Given the description of an element on the screen output the (x, y) to click on. 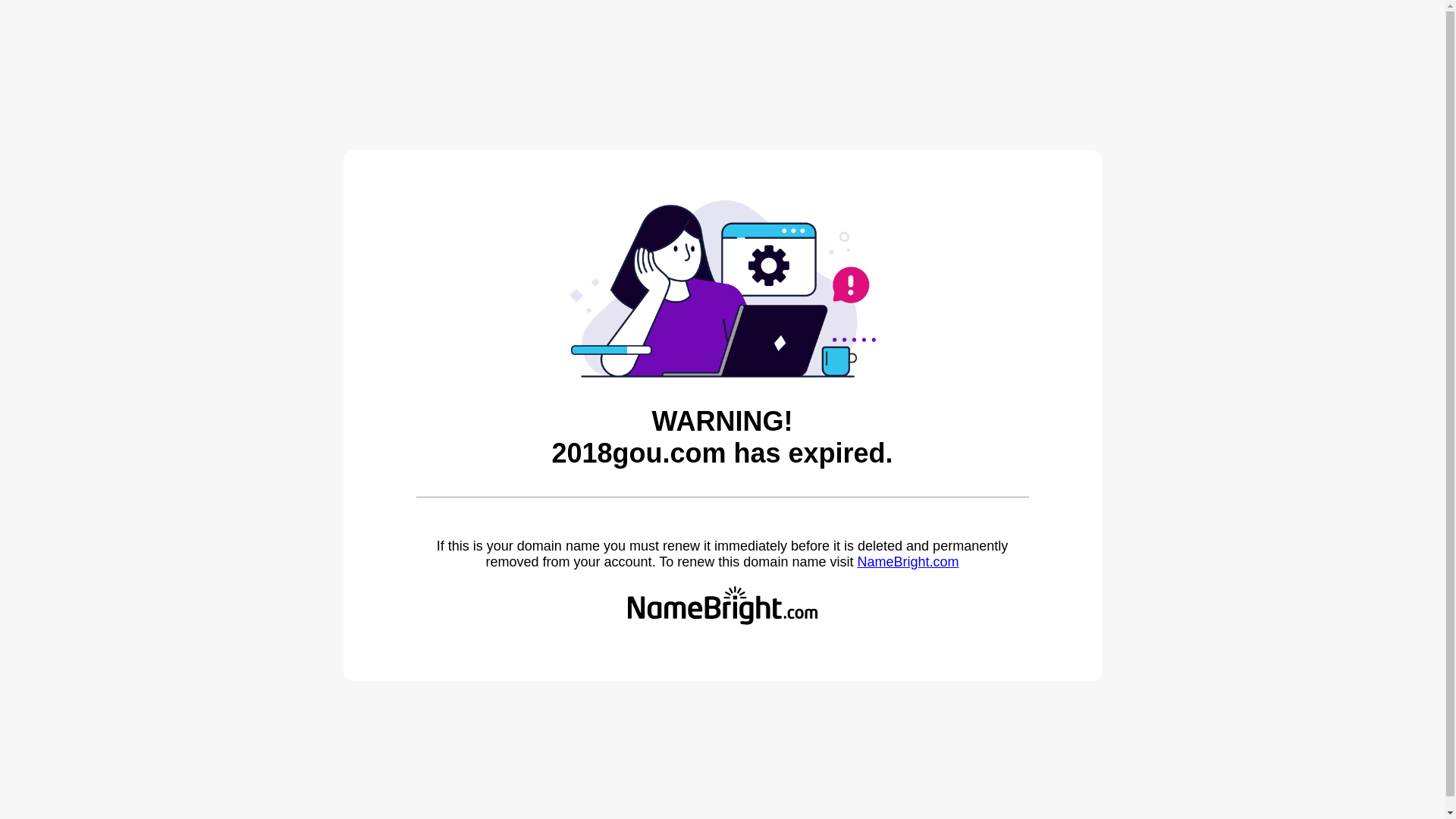
NameBright.com Element type: text (907, 561)
